Given the description of an element on the screen output the (x, y) to click on. 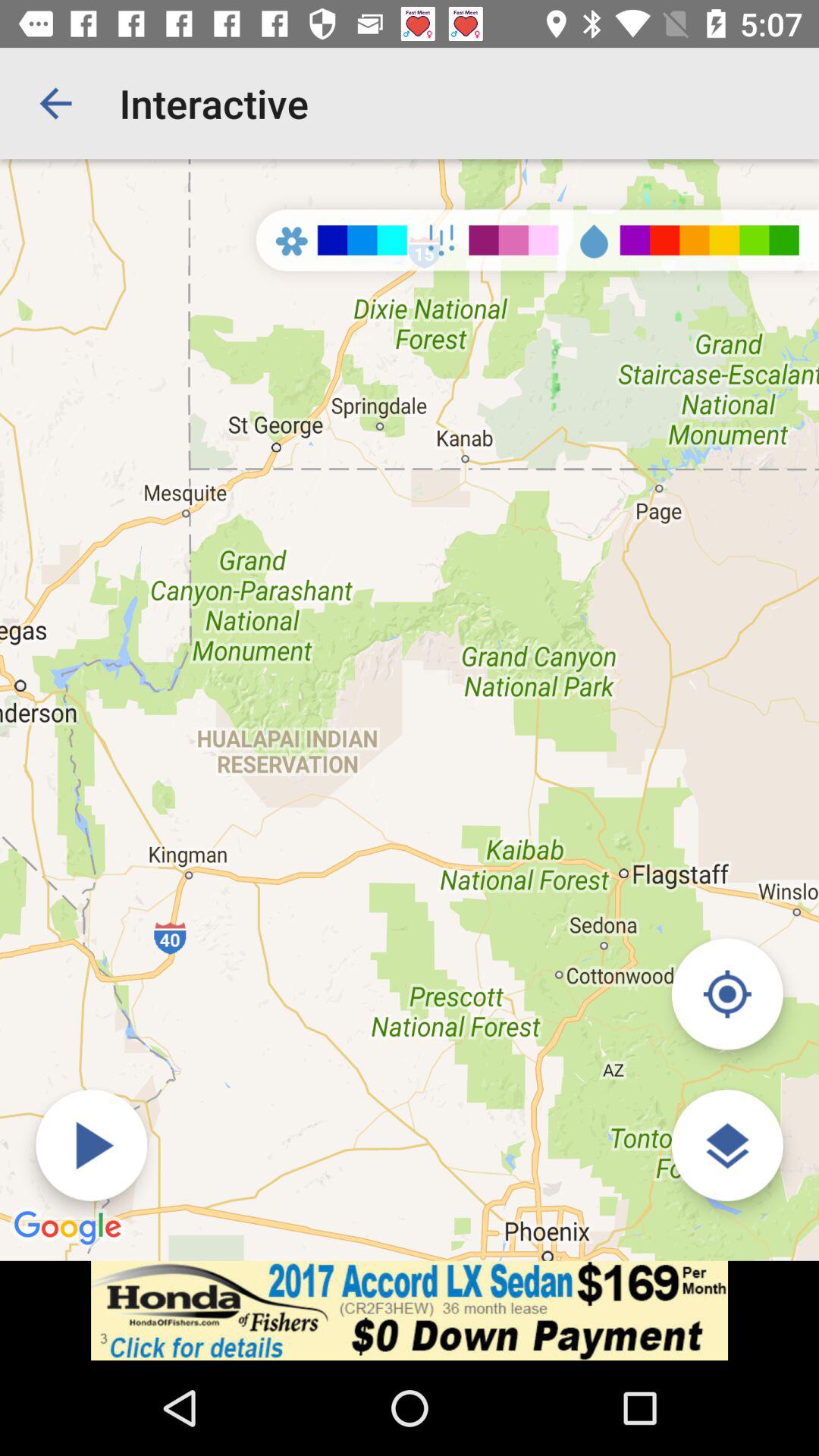
open an advertisement (409, 1310)
